Given the description of an element on the screen output the (x, y) to click on. 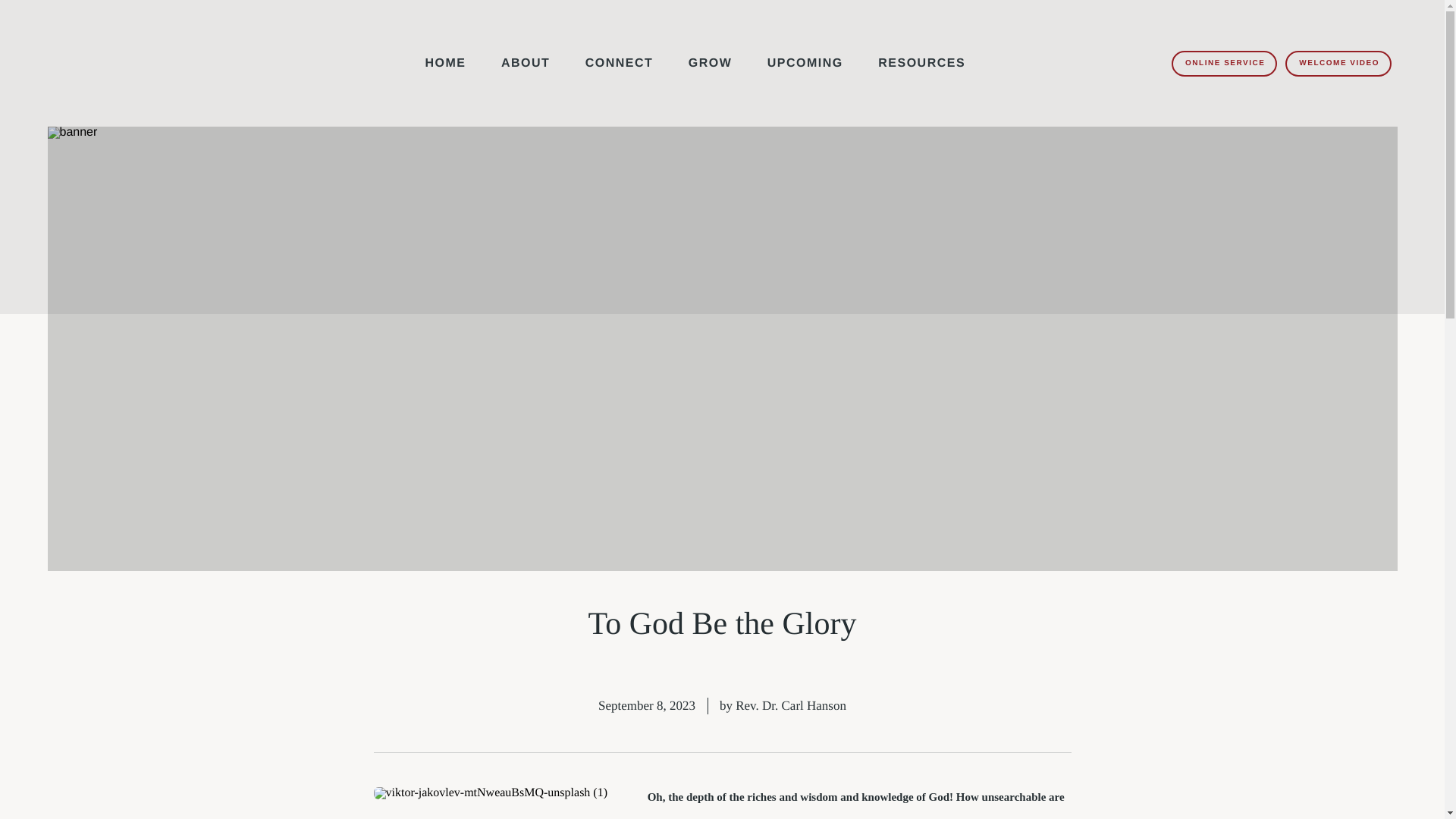
ABOUT (525, 72)
HOME (445, 72)
